Given the description of an element on the screen output the (x, y) to click on. 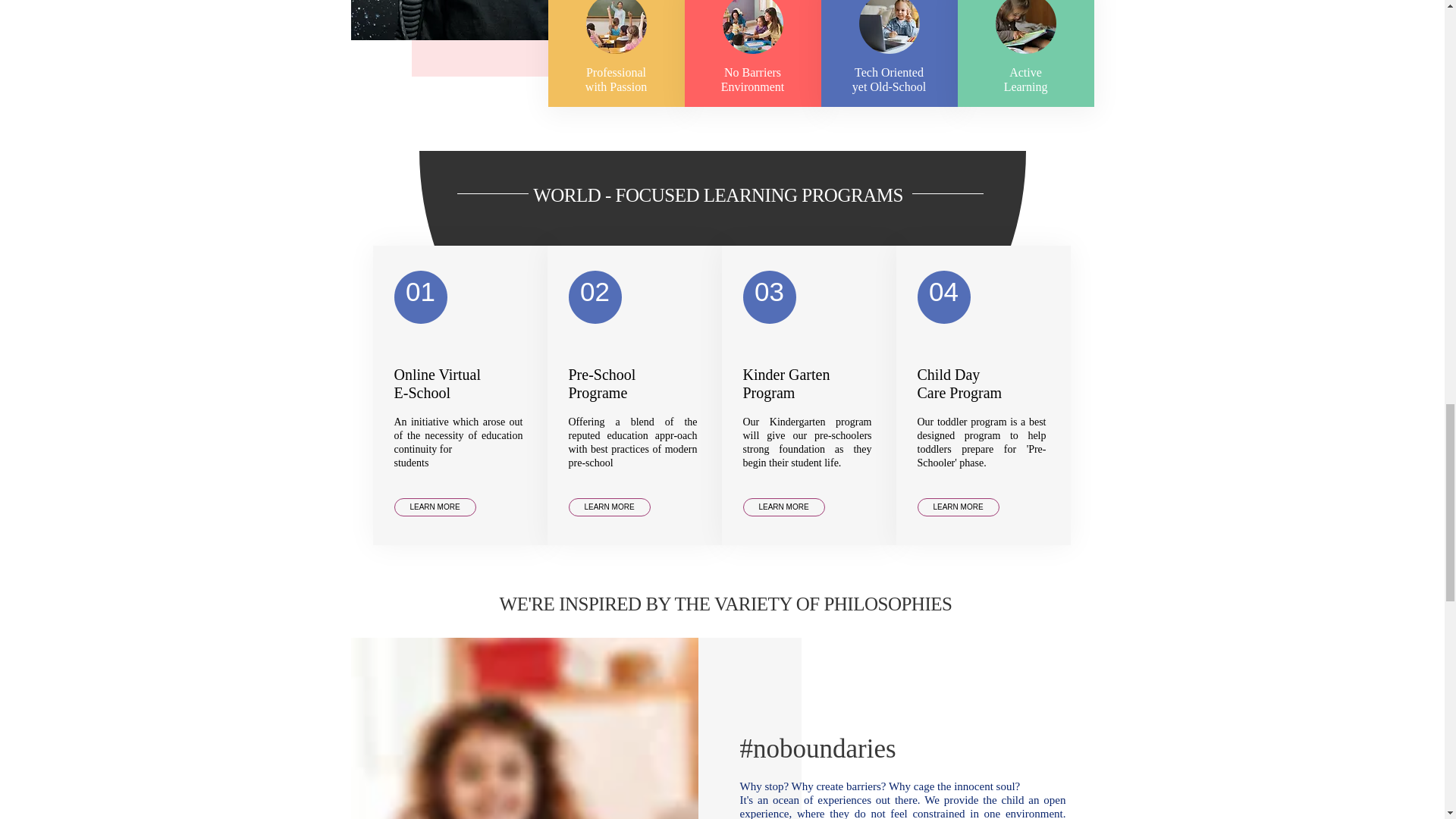
teacher-asking-question-her-class.jpg (1024, 27)
LEARN MORE (957, 506)
LEARN MORE (435, 506)
teacher-asking-question-her-class.jpg (888, 27)
LEARN MORE (609, 506)
teacher-asking-question-her-class.jpg (752, 27)
LEARN MORE (783, 506)
teacher-asking-question-her-class.jpg (615, 27)
